Given the description of an element on the screen output the (x, y) to click on. 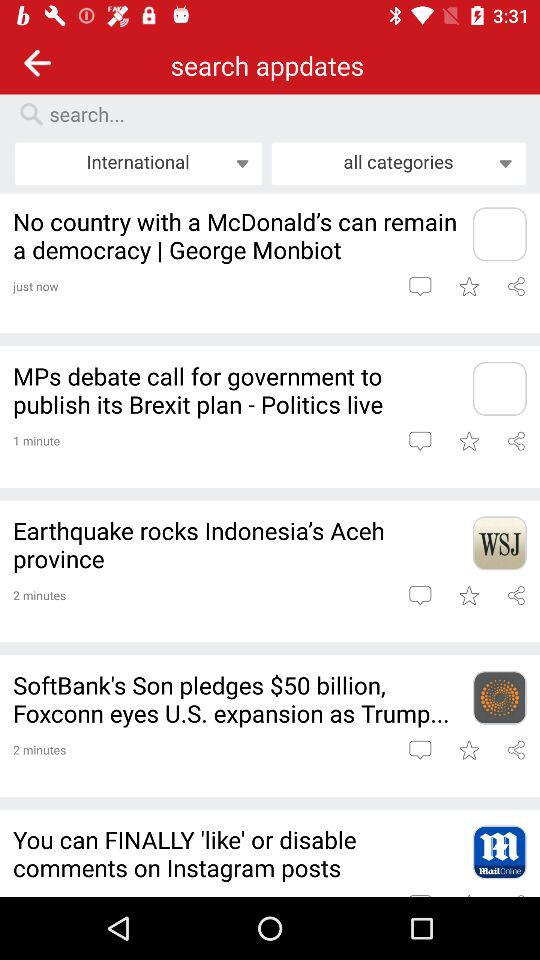
disable the comments (499, 852)
